Given the description of an element on the screen output the (x, y) to click on. 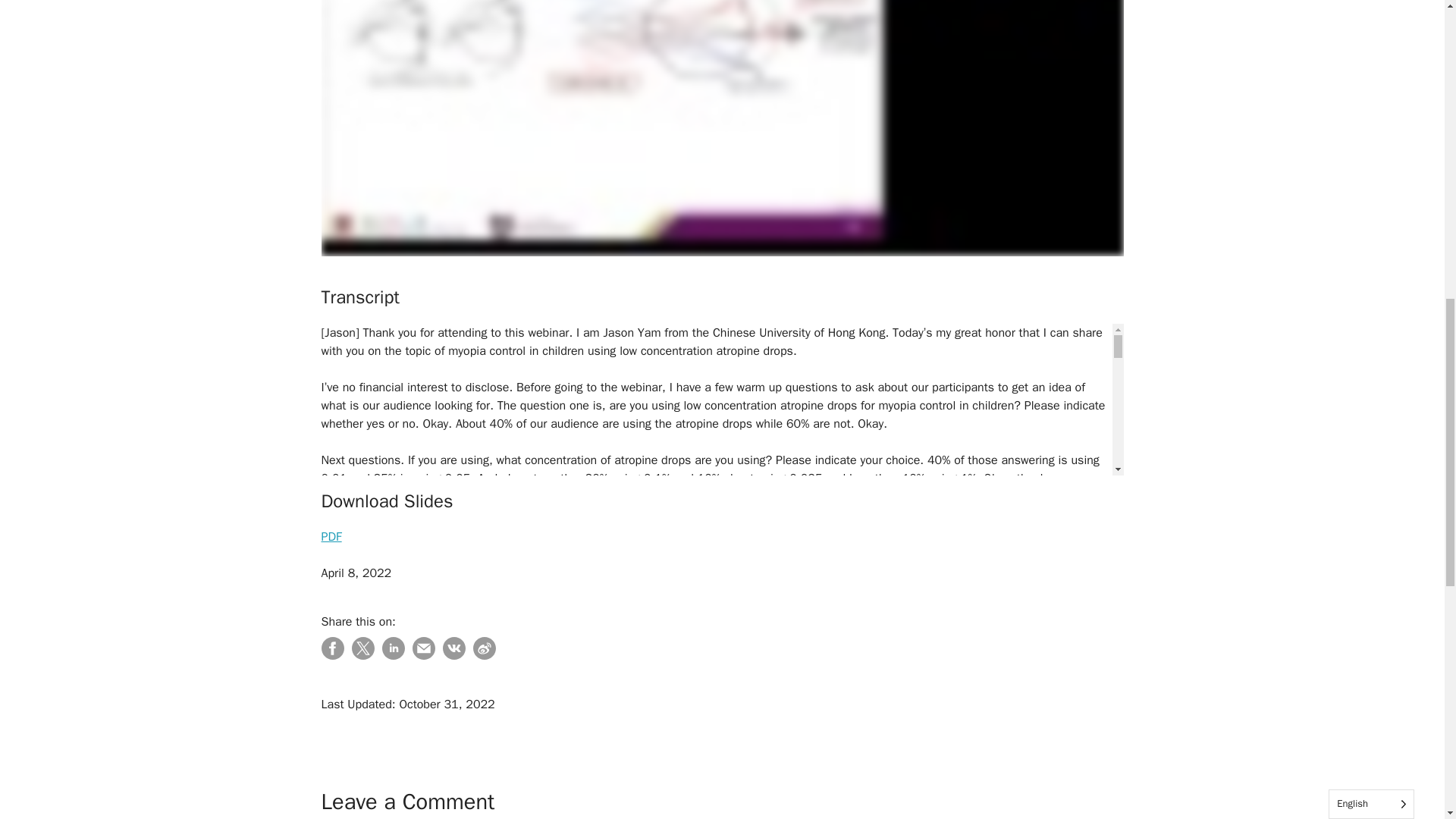
Add this post! (453, 655)
Add this post! (484, 655)
PDF (331, 536)
Share this post! (392, 655)
Tweet this post! (363, 655)
Share this post! (332, 655)
Email this post! (423, 655)
